Given the description of an element on the screen output the (x, y) to click on. 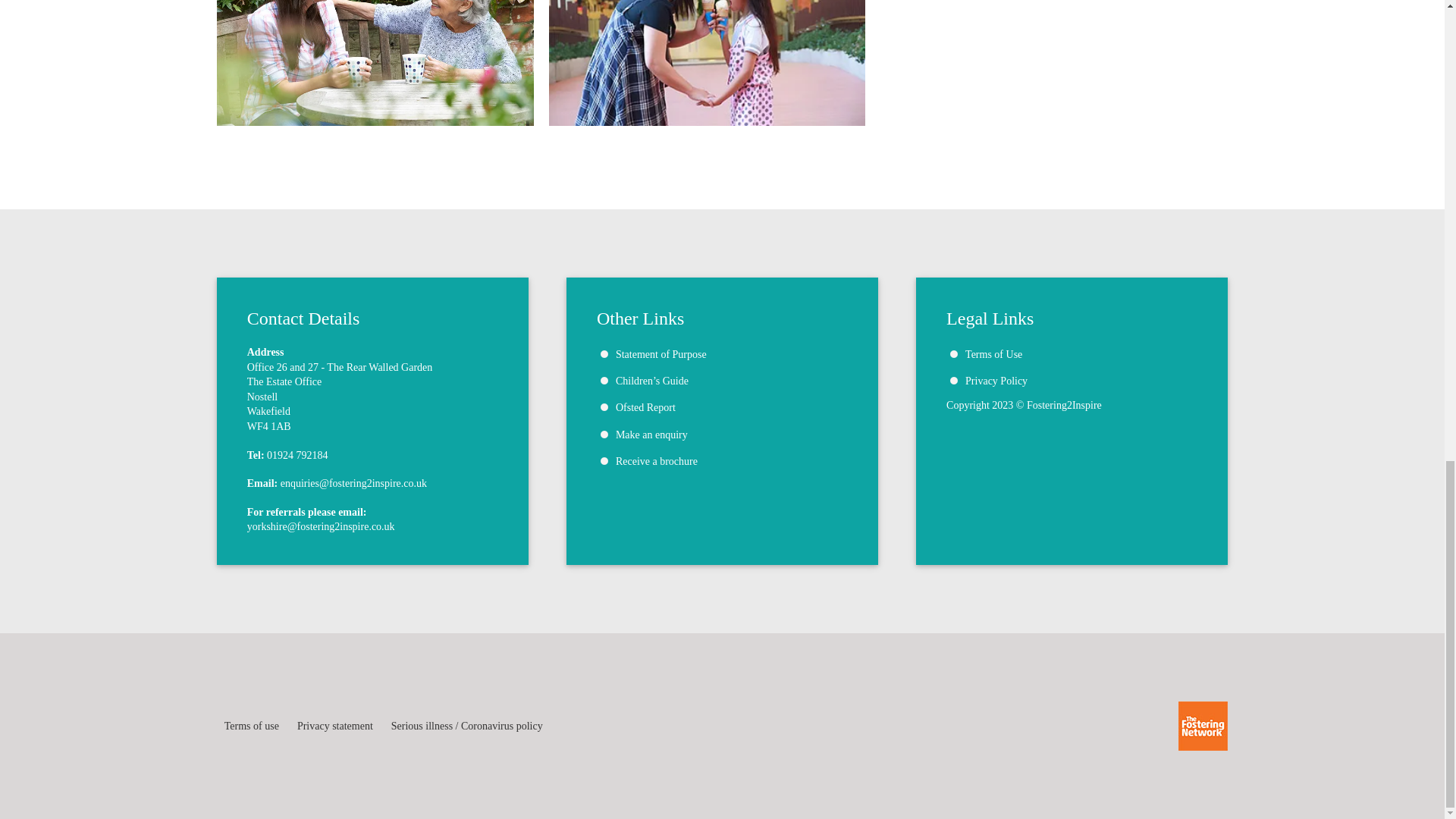
Ofsted Report (645, 407)
Receive a brochure (656, 460)
01924 792184 (297, 455)
Statement of Purpose (660, 354)
Make an enquiry (651, 434)
